Given the description of an element on the screen output the (x, y) to click on. 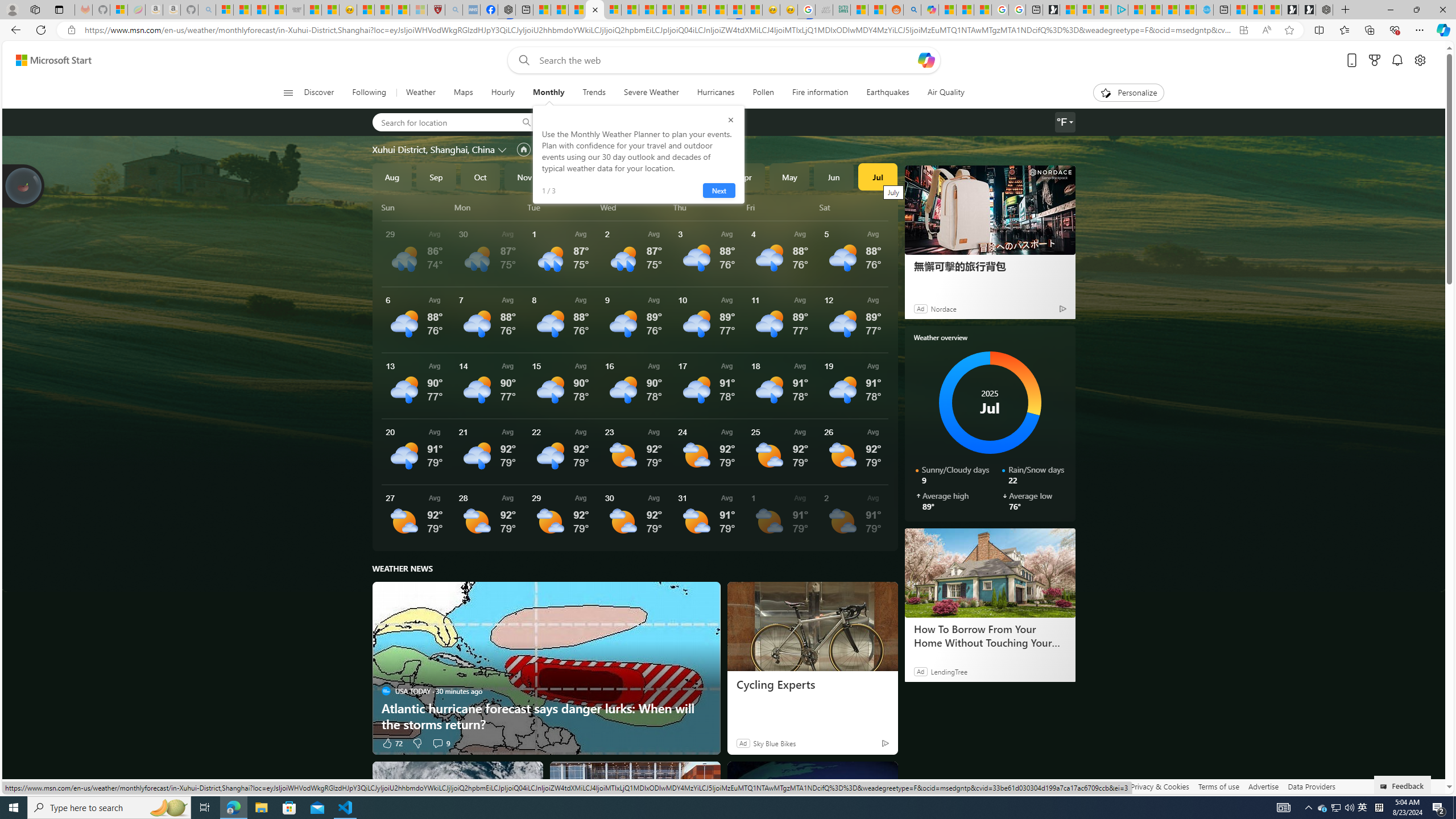
How To Borrow From Your Home Without Touching Your Mortgage (989, 572)
Monthly (548, 92)
Sat (853, 207)
Feb (657, 176)
Notifications (1397, 60)
Next (718, 190)
Feb (657, 176)
Search for location (440, 122)
How To Borrow From Your Home Without Touching Your Mortgage (988, 635)
Skip to footer (46, 59)
Jun (833, 176)
